Given the description of an element on the screen output the (x, y) to click on. 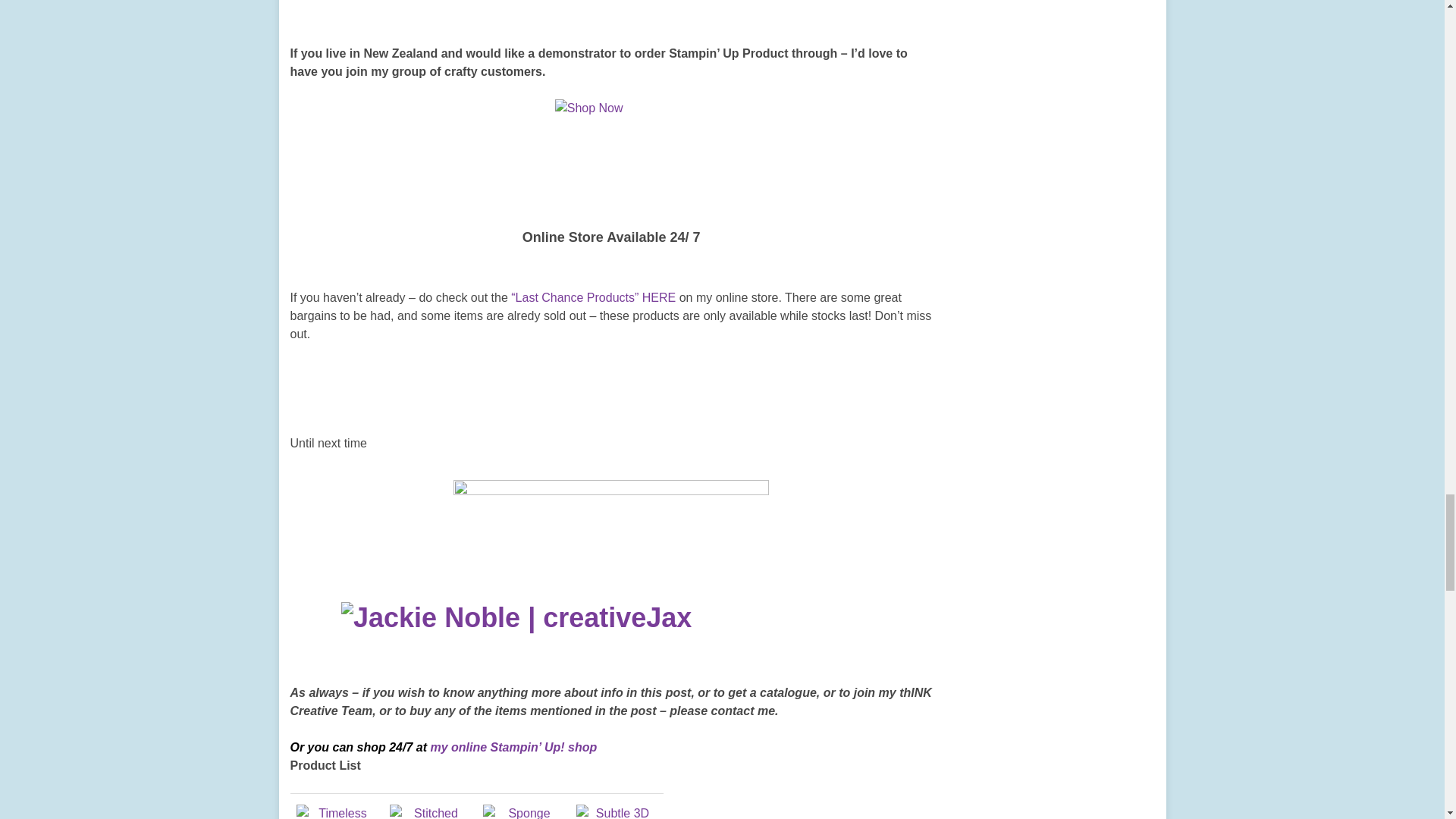
Stitched Nested Labels Dies (430, 811)
Sponge Brayers (522, 816)
Sponge Brayers (522, 811)
